Given the description of an element on the screen output the (x, y) to click on. 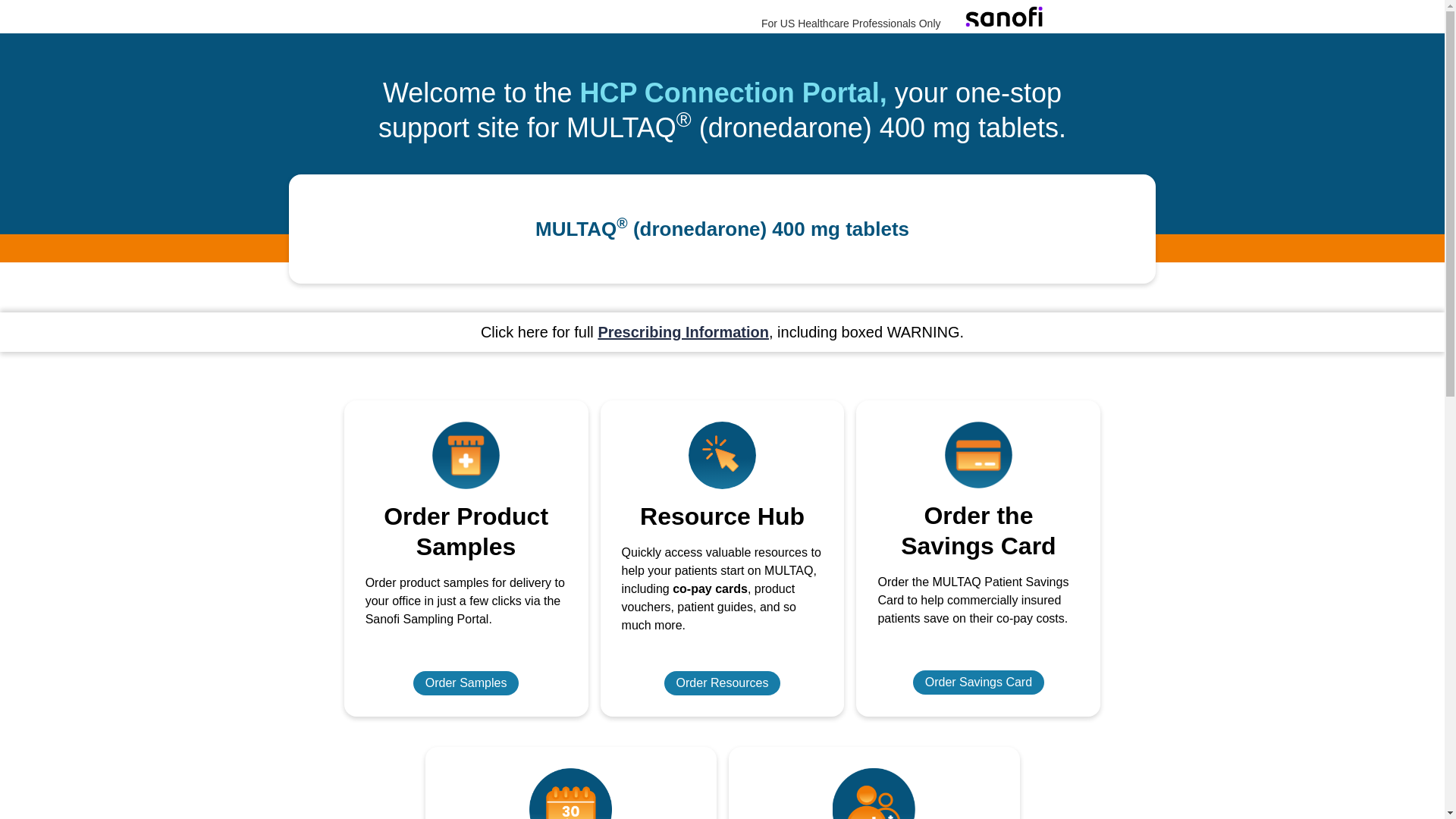
Order Resources (721, 682)
Prescribing Information (682, 331)
Order Samples (466, 682)
Order Savings Card (977, 682)
